Given the description of an element on the screen output the (x, y) to click on. 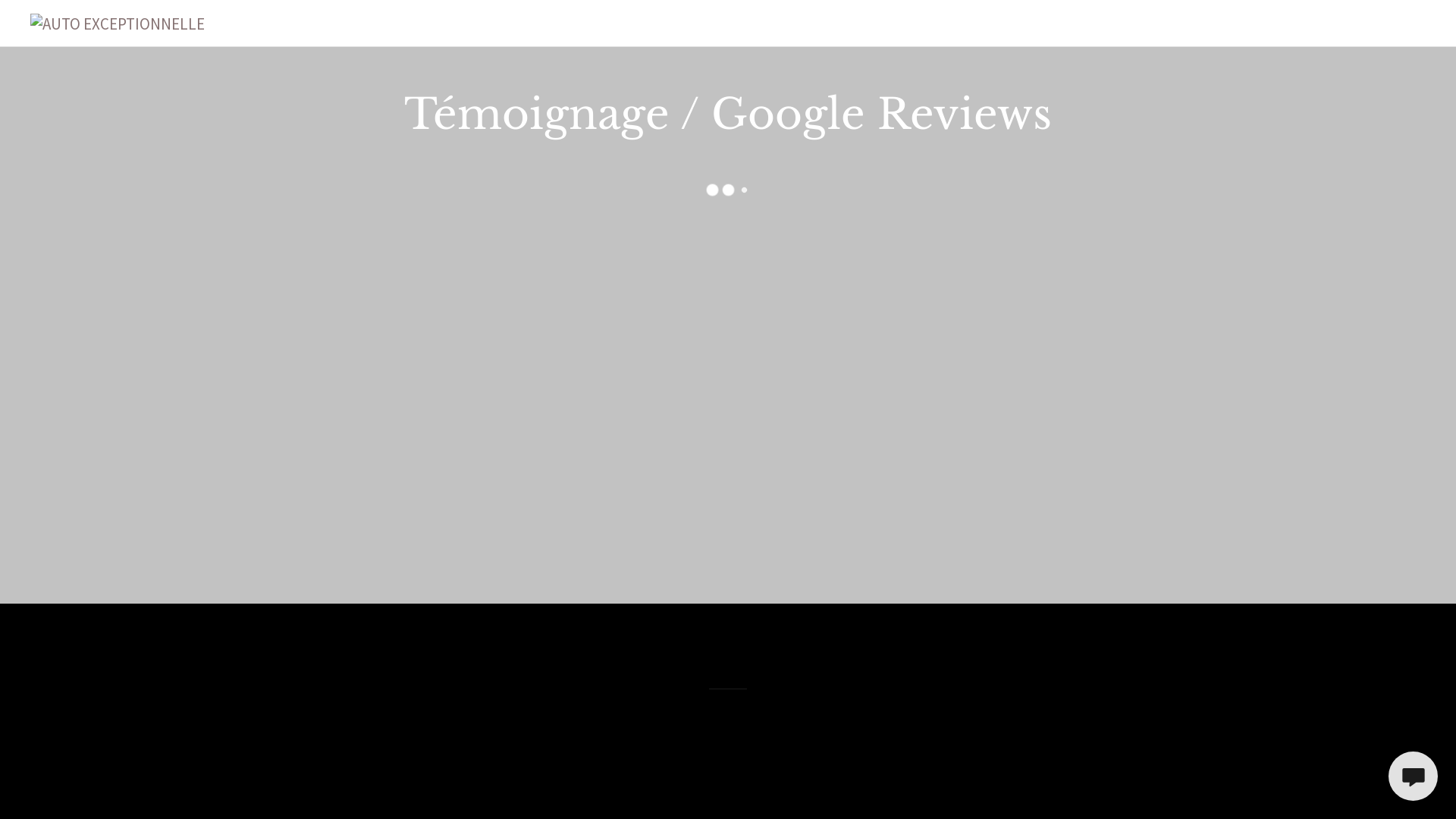
AUTO EXCEPTIONNELLE  Element type: hover (117, 22)
